Given the description of an element on the screen output the (x, y) to click on. 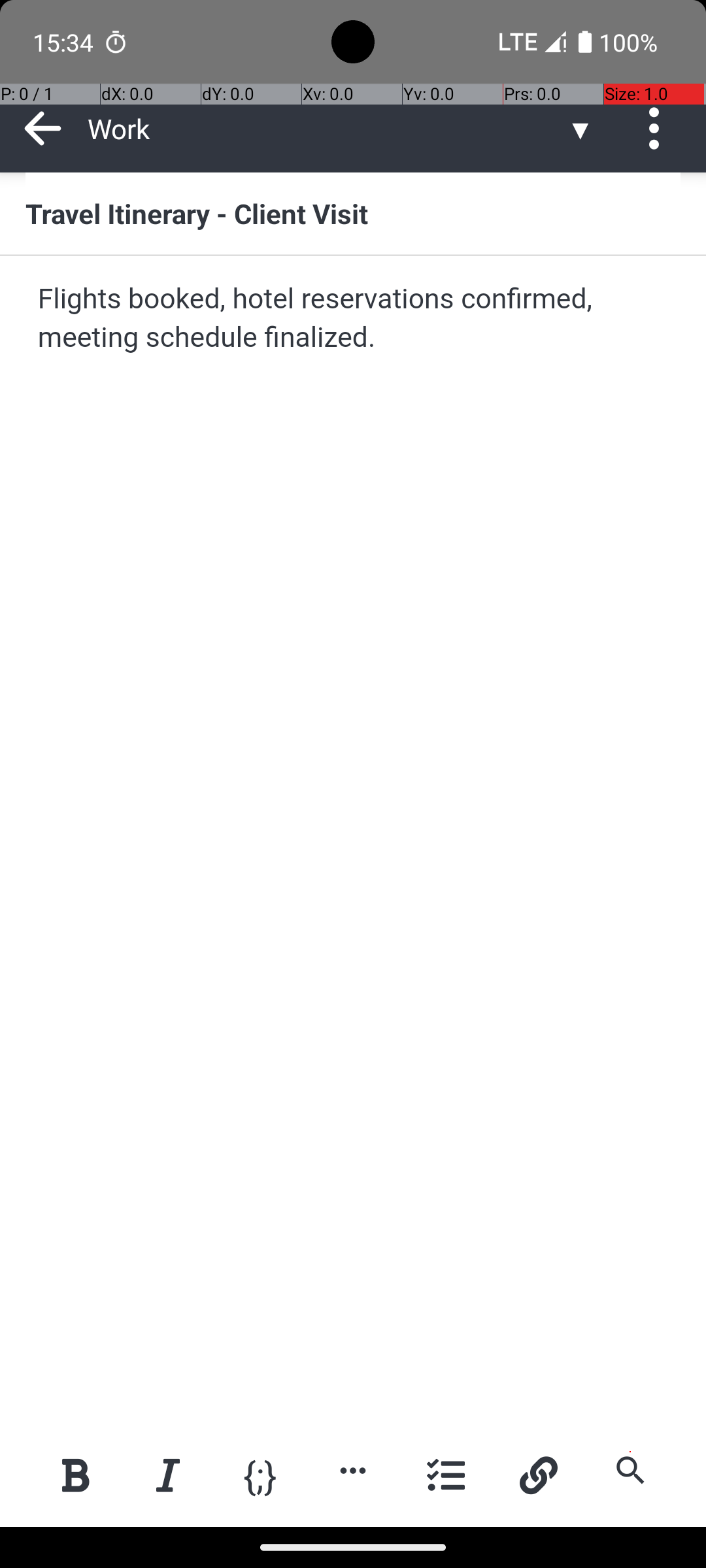
Travel Itinerary - Client Visit Element type: android.widget.EditText (352, 213)
Flights booked, hotel reservations confirmed, meeting schedule finalized. Element type: android.widget.EditText (354, 318)
